Given the description of an element on the screen output the (x, y) to click on. 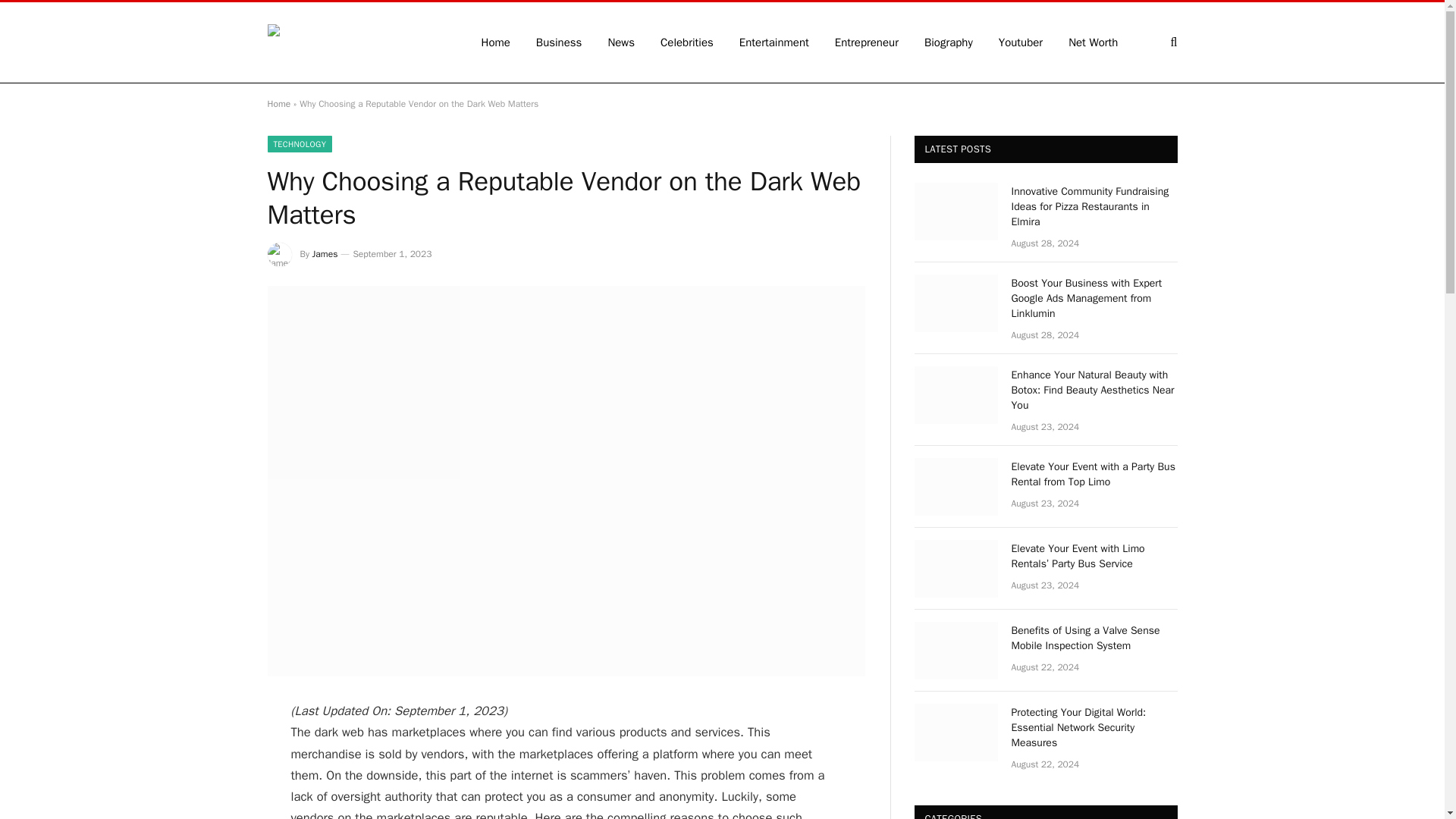
Posts by James (325, 254)
Biography (948, 42)
Elevate Your Event with a Party Bus Rental from Top Limo (955, 486)
Home (277, 103)
Elevate Your Event with a Party Bus Rental from Top Limo (1094, 474)
Entrepreneur (866, 42)
